Given the description of an element on the screen output the (x, y) to click on. 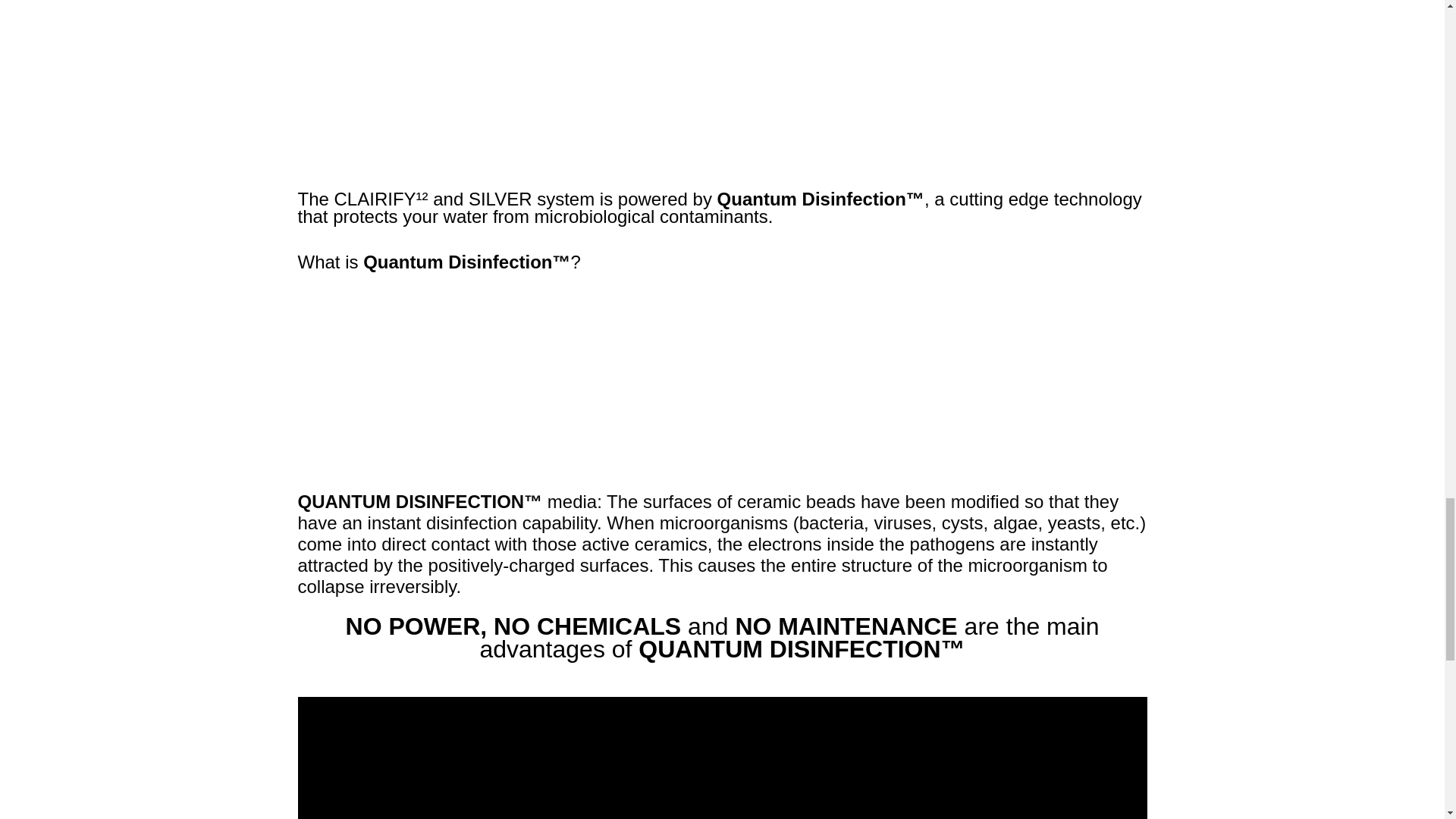
Page 3 (722, 639)
Page 3 (722, 230)
Page 3 (722, 545)
